Given the description of an element on the screen output the (x, y) to click on. 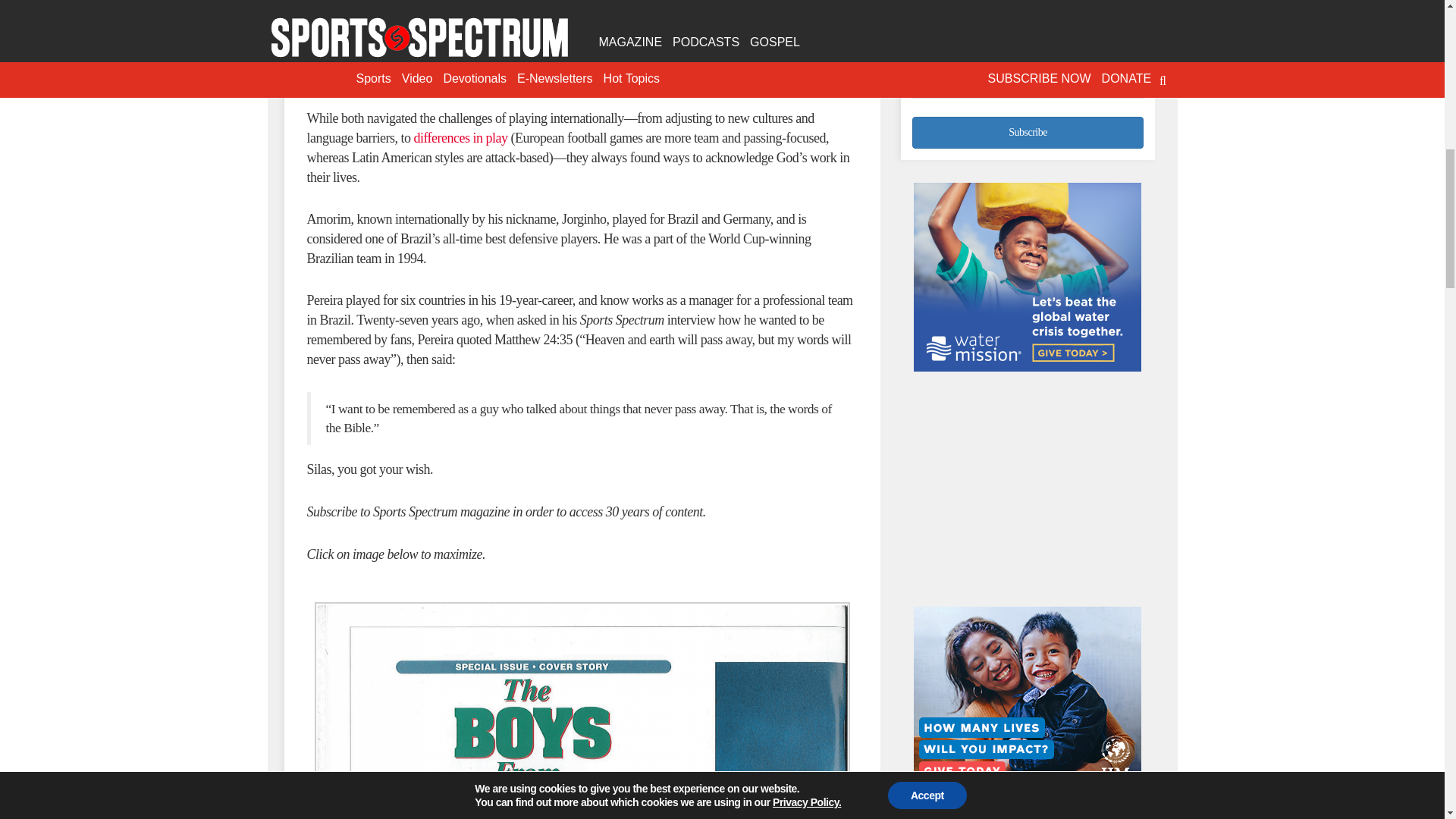
International Phone Number (1027, 80)
differences in play (459, 137)
